Given the description of an element on the screen output the (x, y) to click on. 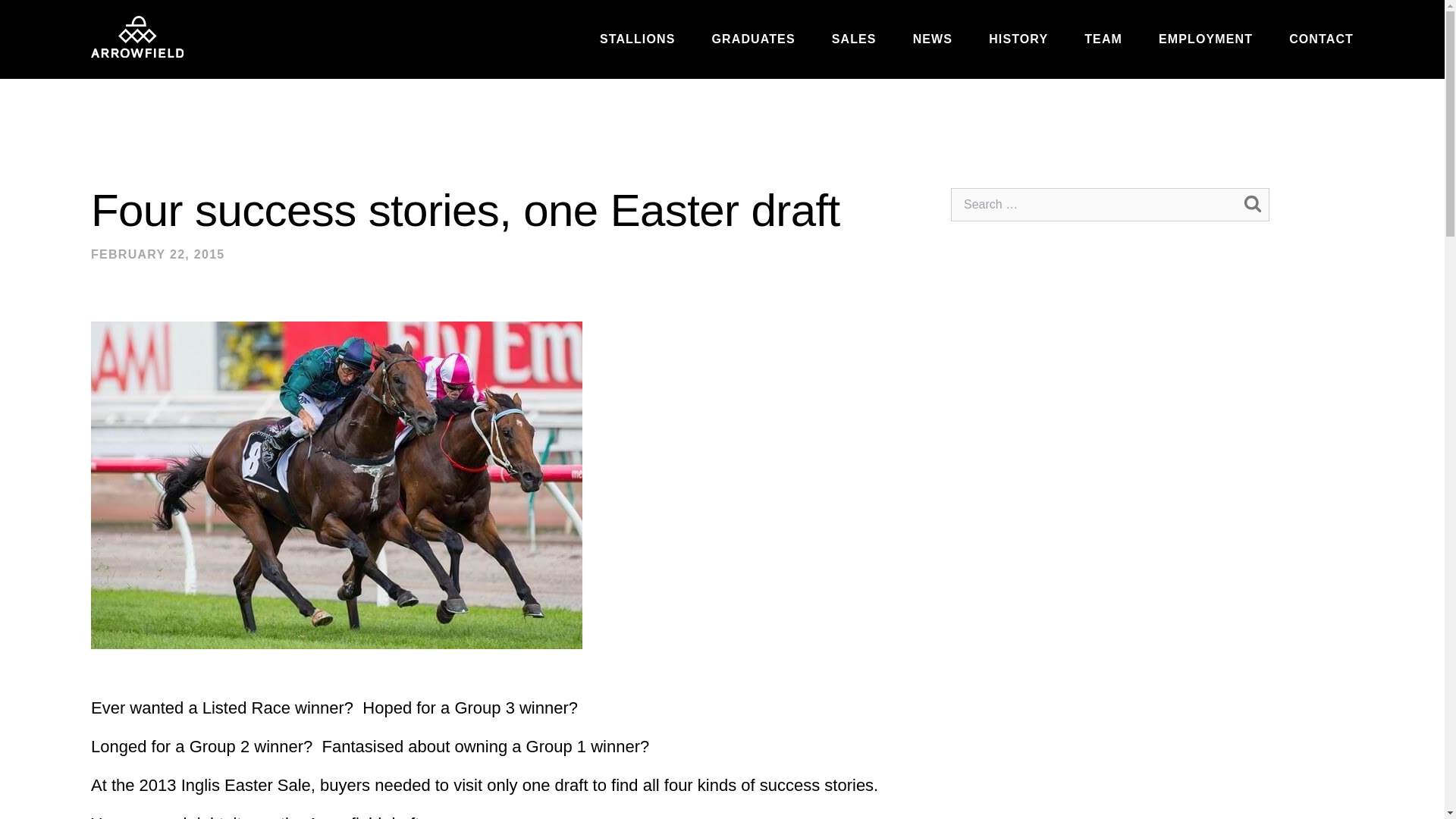
GRADUATES (752, 39)
NEWS (932, 39)
TEAM (1103, 39)
STALLIONS (637, 39)
SALES (853, 39)
CONTACT (1321, 39)
EMPLOYMENT (1205, 39)
Return to the homepage (136, 36)
HISTORY (1018, 39)
